Given the description of an element on the screen output the (x, y) to click on. 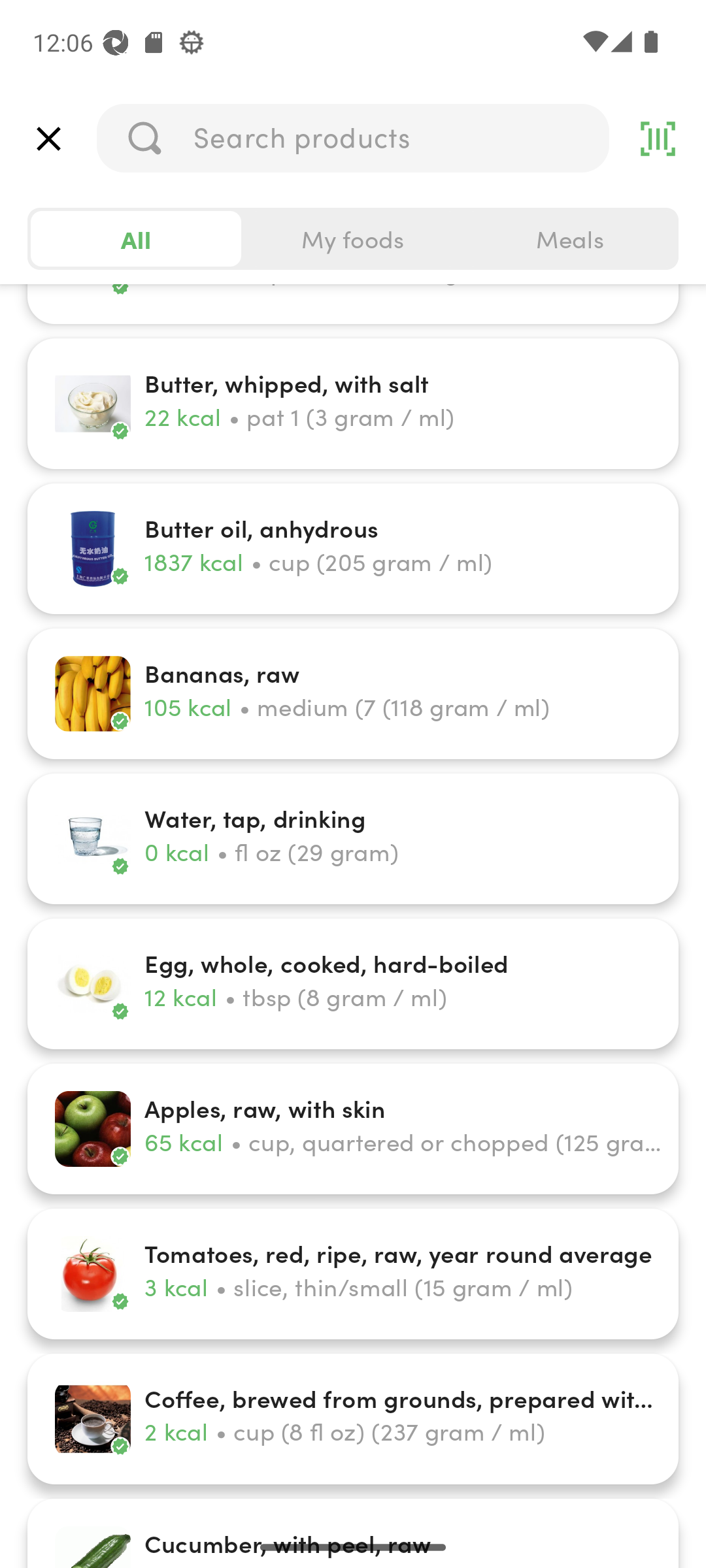
top_left_action (48, 138)
top_right_action (658, 138)
My foods (352, 238)
Meals (569, 238)
Bananas, raw 105 kcal  • medium (7 (118 gram / ml) (352, 693)
Water, tap, drinking 0 kcal  • fl oz (29 gram) (352, 838)
